Given the description of an element on the screen output the (x, y) to click on. 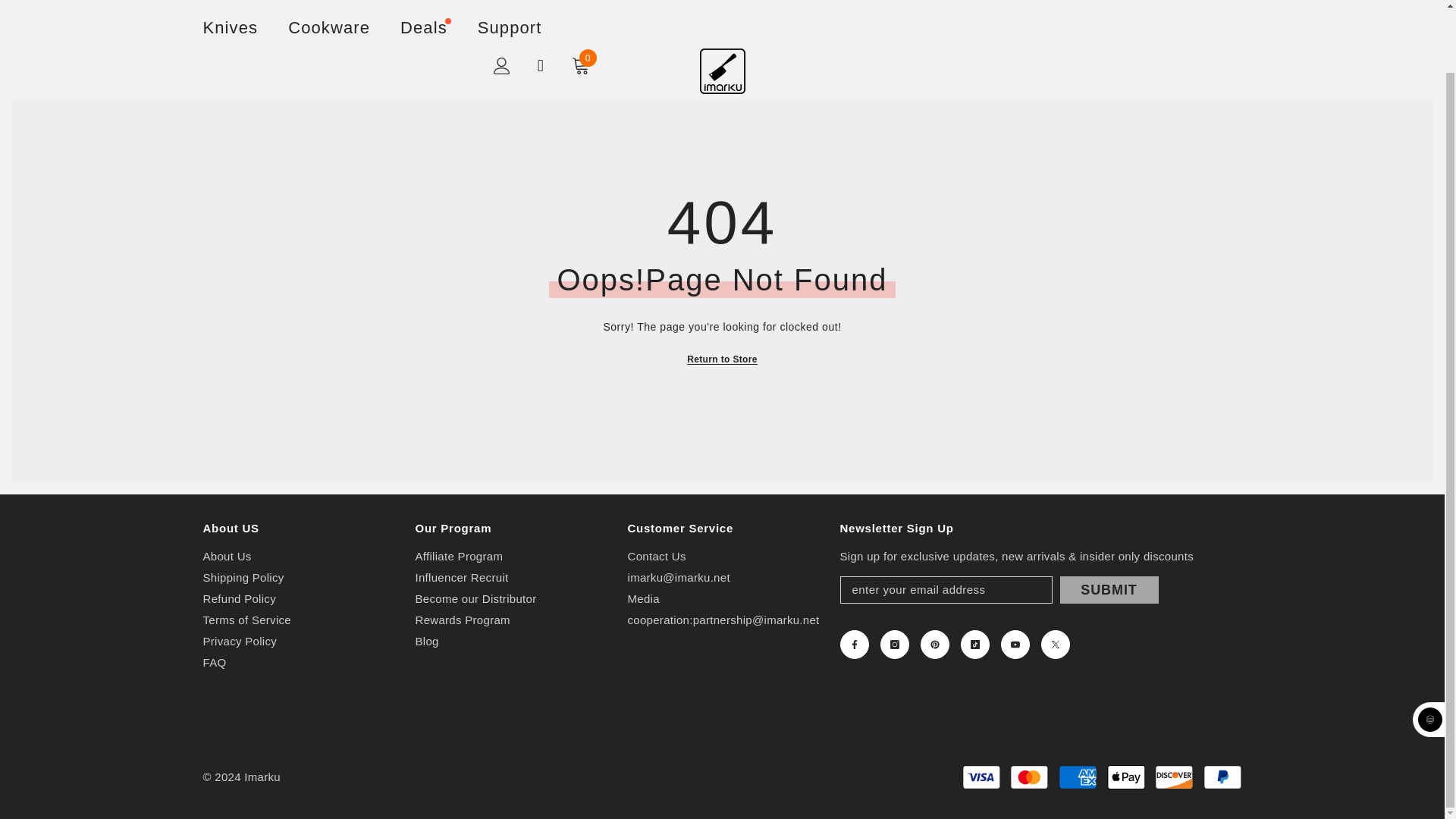
Apple Pay (1125, 776)
Mastercard (1029, 776)
PayPal (1222, 776)
American Express (1077, 776)
Visa (981, 776)
Cookware (329, 6)
Discover (1173, 776)
Knives (230, 8)
